Given the description of an element on the screen output the (x, y) to click on. 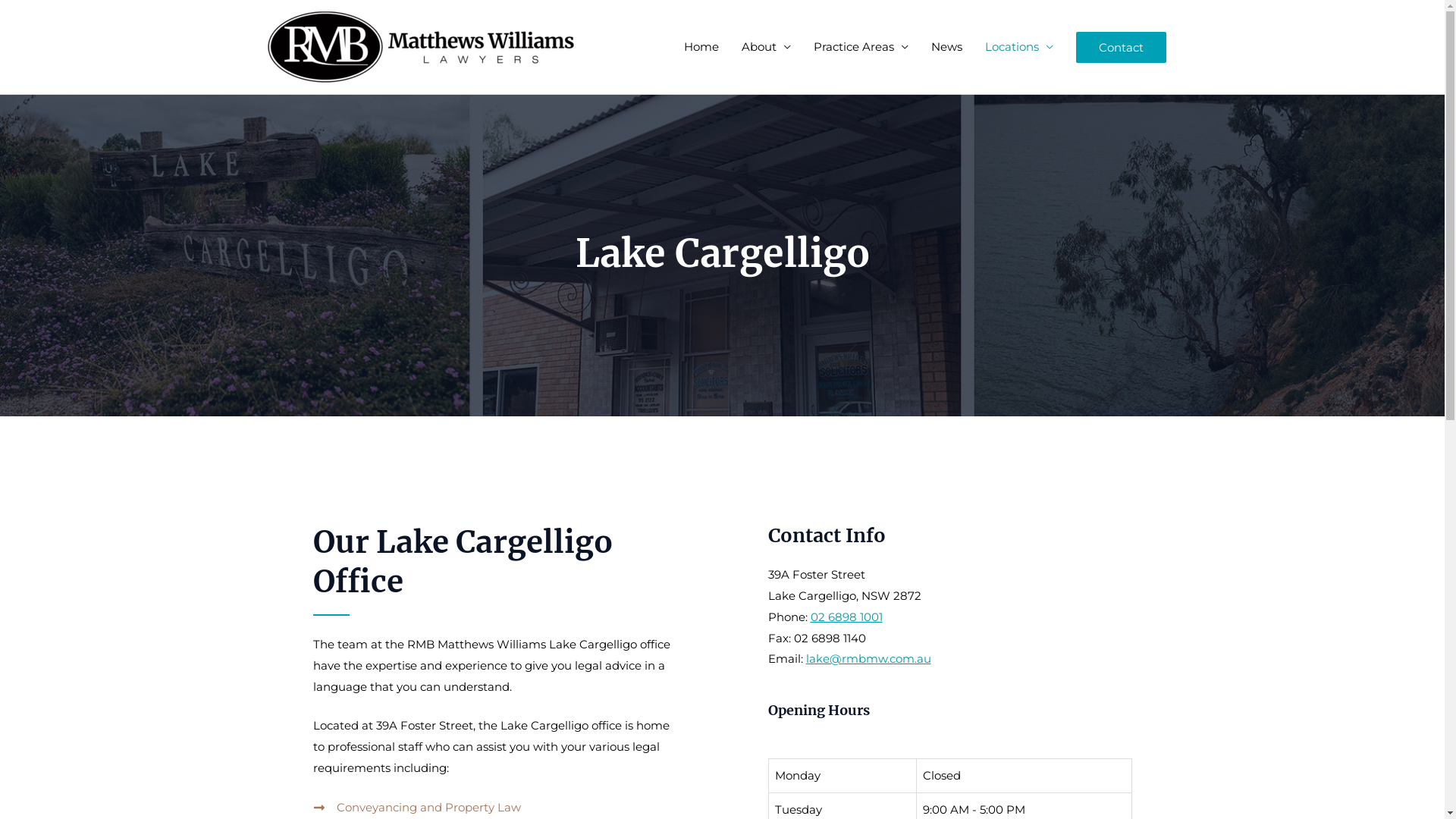
02 6898 1001 Element type: text (845, 616)
News Element type: text (945, 47)
Home Element type: text (700, 47)
lake@rmbmw.com.au Element type: text (867, 658)
Locations Element type: text (1018, 47)
Contact Element type: text (1120, 46)
Practice Areas Element type: text (860, 47)
About Element type: text (765, 47)
